Given the description of an element on the screen output the (x, y) to click on. 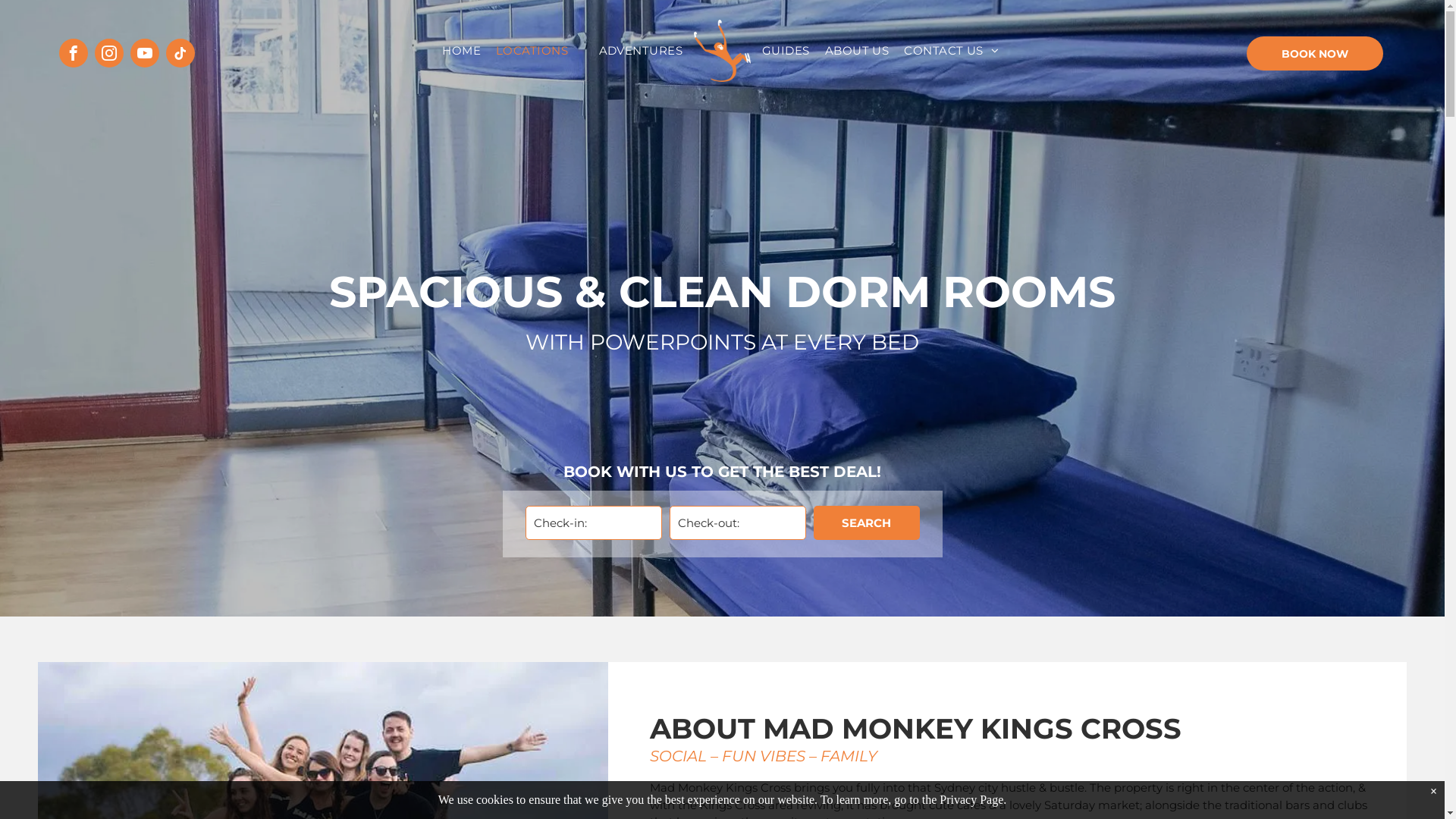
GUIDES Element type: text (785, 50)
ADVENTURES Element type: text (640, 50)
Privacy Page Element type: text (971, 799)
HOME Element type: text (461, 50)
ABOUT US Element type: text (857, 50)
LOCATIONS Element type: text (539, 50)
SEARCH Element type: text (865, 522)
CONTACT US Element type: text (951, 50)
BOOK NOW Element type: text (1314, 53)
